Given the description of an element on the screen output the (x, y) to click on. 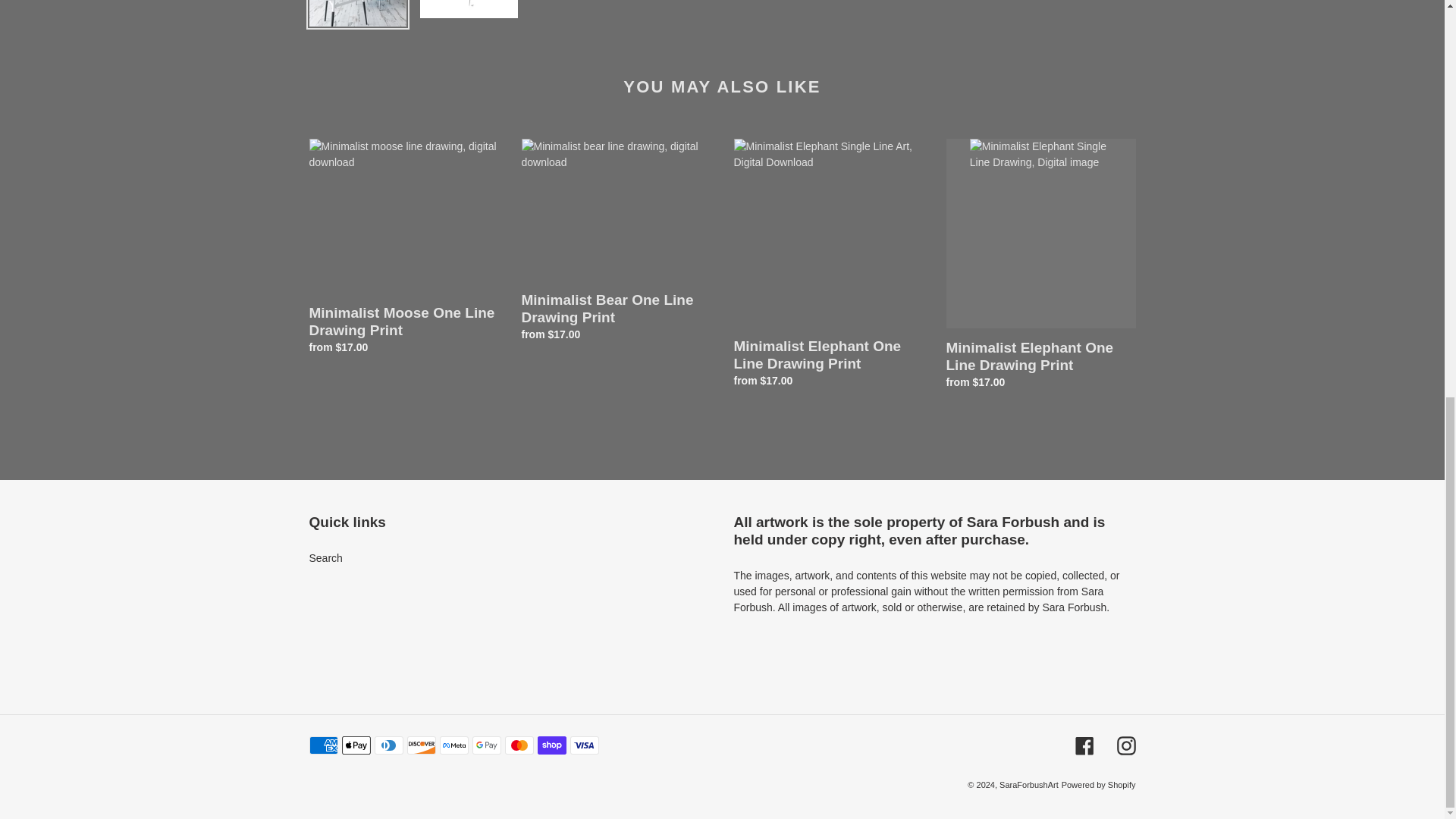
Facebook (1084, 745)
Powered by Shopify (1098, 784)
Minimalist Bear One Line Drawing Print (616, 243)
Instagram (1125, 745)
SaraForbushArt (1028, 784)
Search (325, 558)
